Given the description of an element on the screen output the (x, y) to click on. 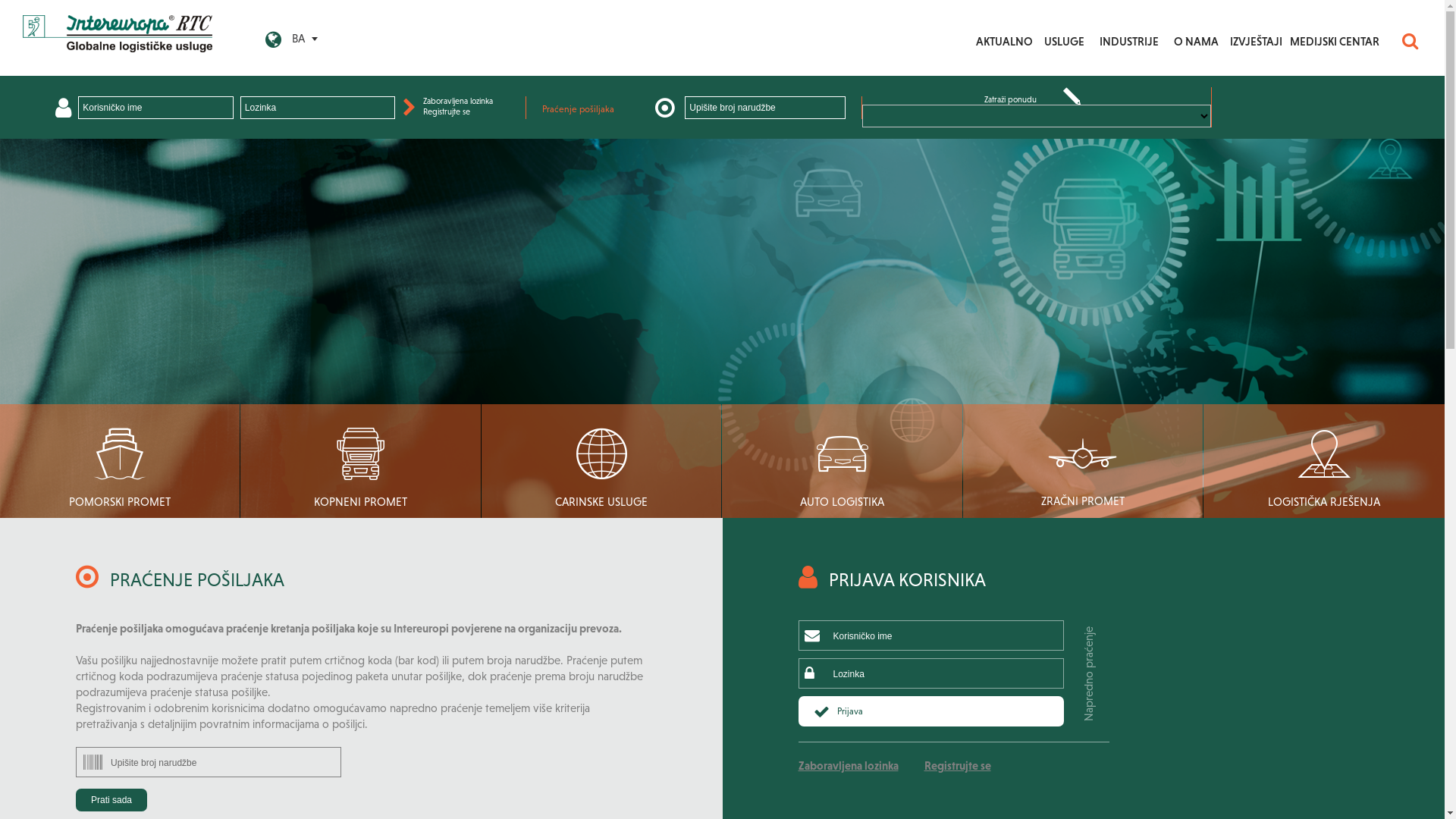
Zaboravljena lozinka Element type: text (847, 765)
AKTUALNO Element type: text (1004, 43)
O NAMA Element type: text (1196, 43)
USLUGE Element type: text (1064, 43)
MEDIJSKI CENTAR Element type: text (1334, 43)
Registrujte se Element type: text (446, 111)
Prati sada Element type: text (111, 799)
Zaboravljena lozinka Element type: text (457, 100)
Prijava Element type: text (930, 711)
Registrujte se Element type: text (956, 765)
INDUSTRIJE Element type: text (1129, 43)
